Given the description of an element on the screen output the (x, y) to click on. 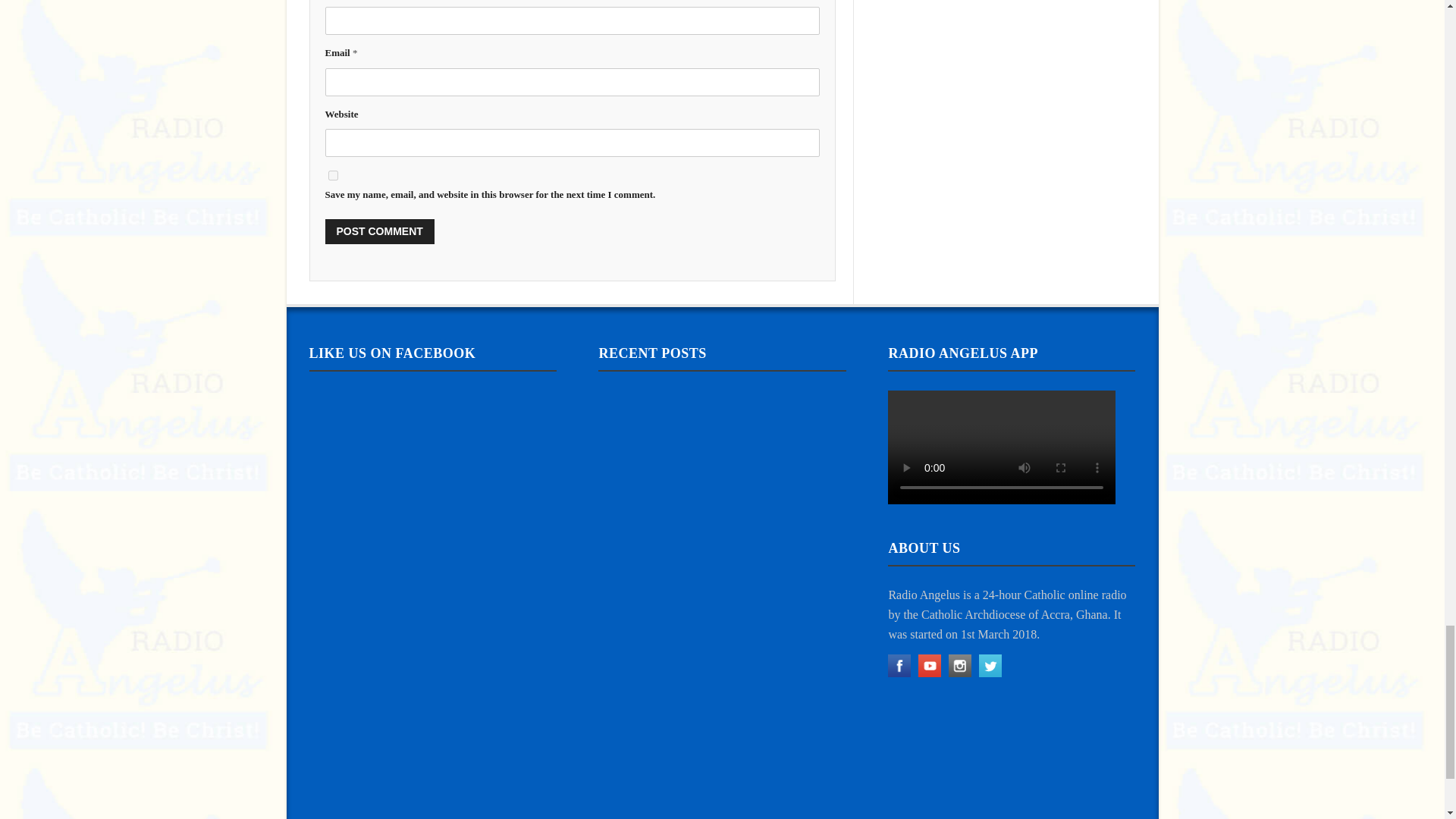
Post Comment (378, 231)
yes (332, 175)
